Given the description of an element on the screen output the (x, y) to click on. 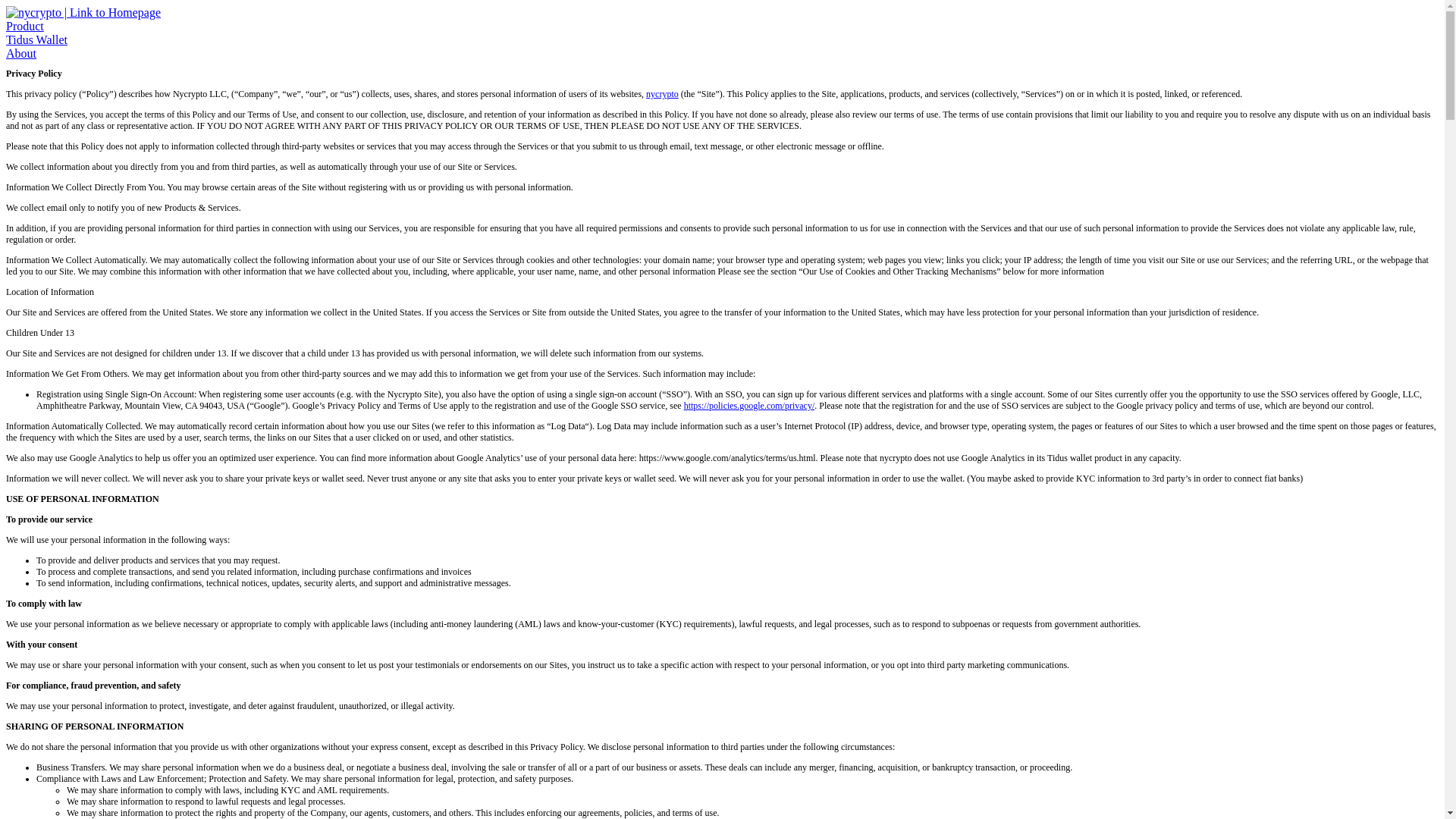
Tidus Wallet (35, 39)
nycrypto (662, 93)
Product (24, 25)
About (20, 52)
